Given the description of an element on the screen output the (x, y) to click on. 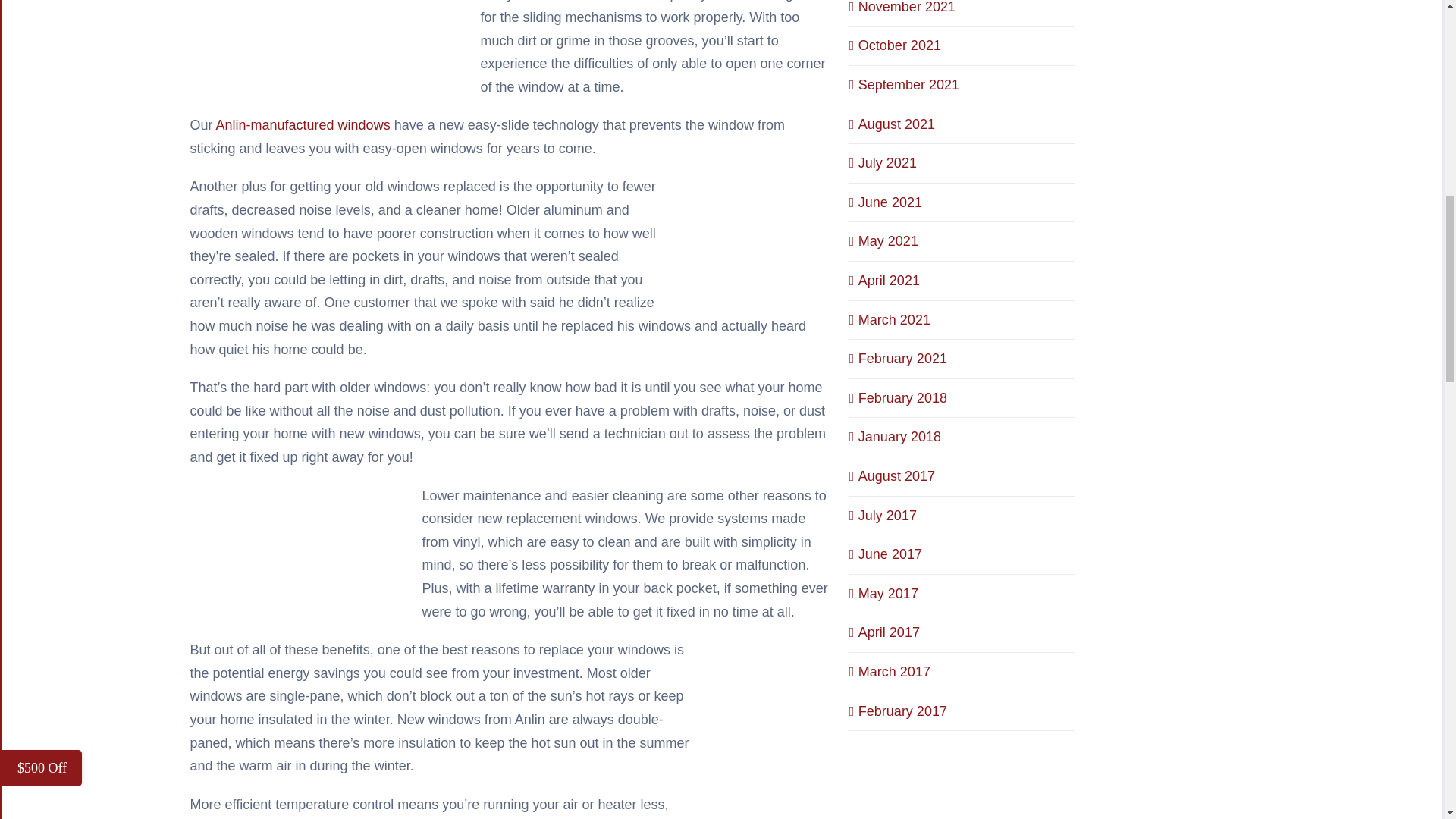
July 2021 (888, 162)
April 2017 (889, 631)
September 2021 (909, 84)
January 2018 (899, 436)
August 2017 (896, 476)
April 2021 (889, 280)
July 2017 (888, 515)
June 2017 (890, 554)
November 2021 (907, 7)
February 2021 (903, 358)
